Given the description of an element on the screen output the (x, y) to click on. 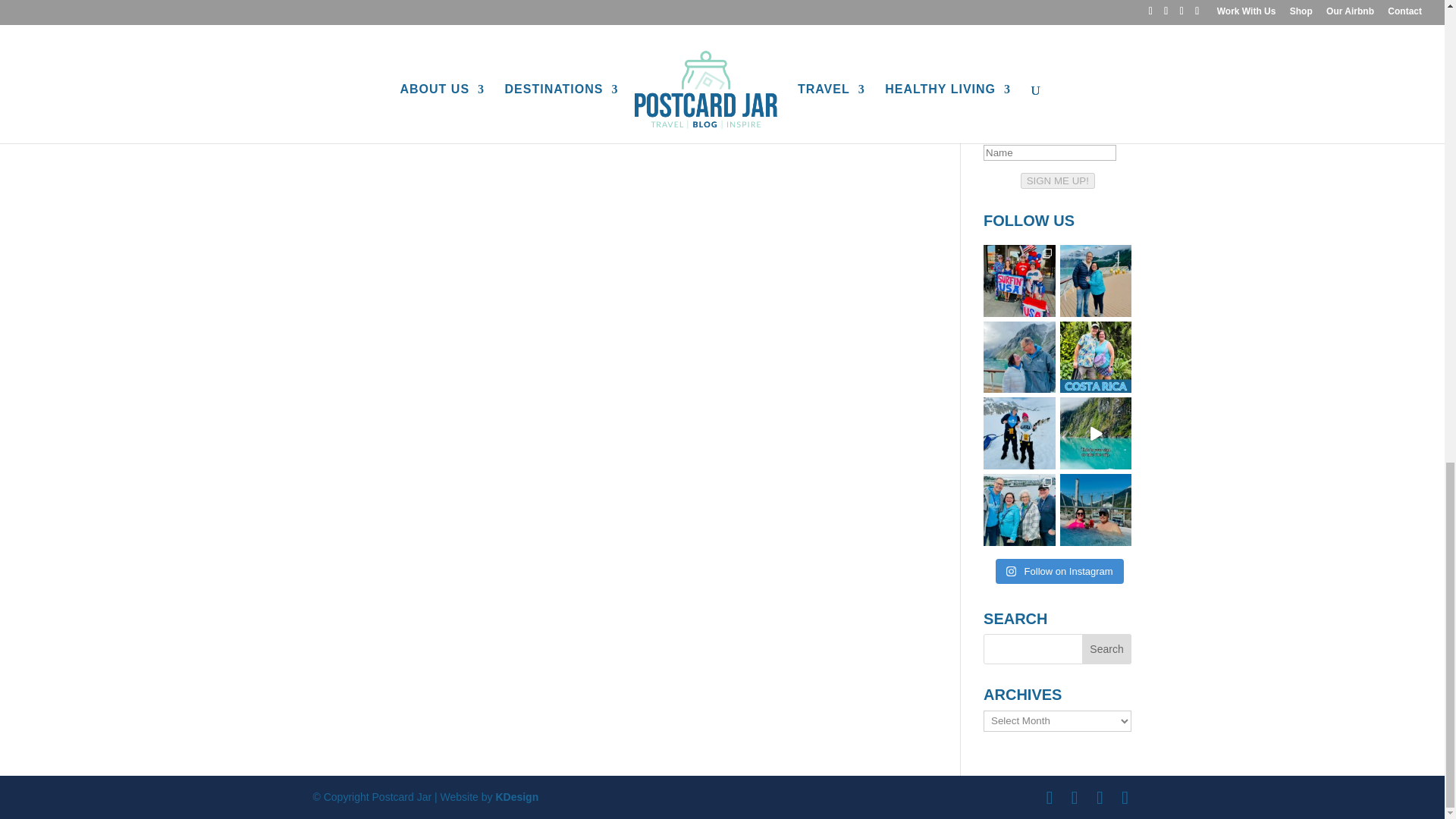
Search (1106, 648)
